Given the description of an element on the screen output the (x, y) to click on. 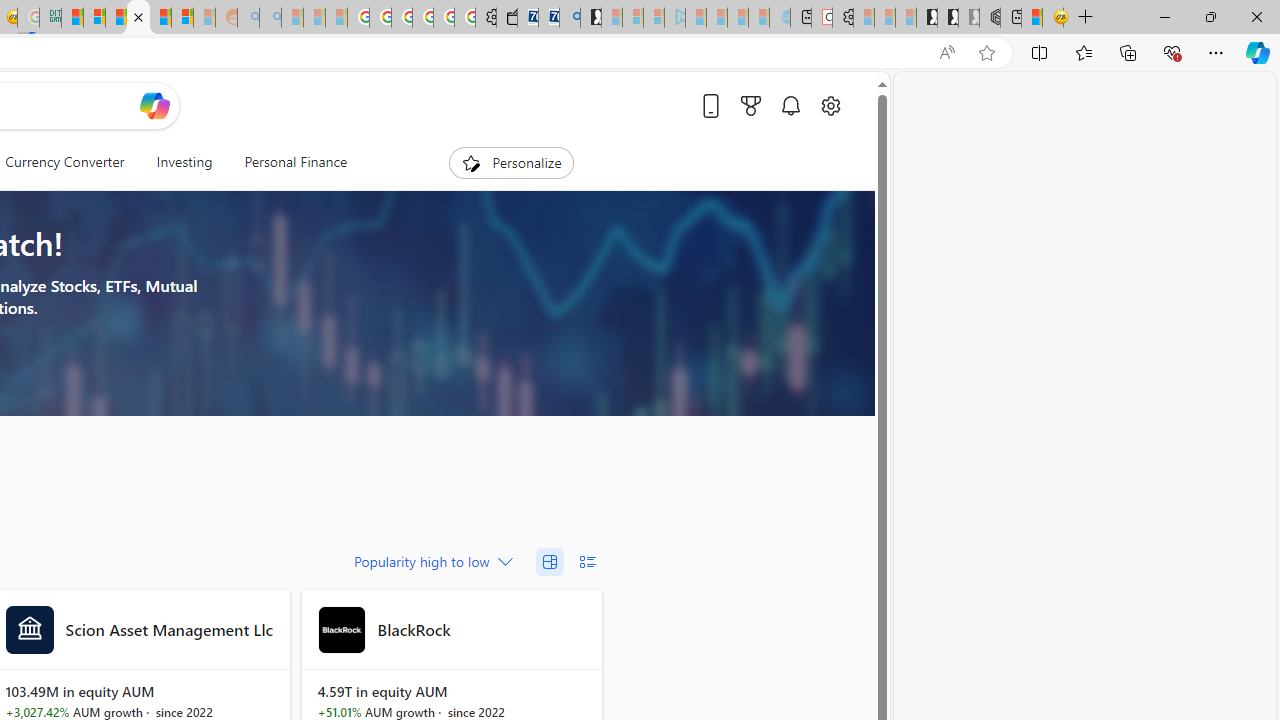
Bing Real Estate - Home sales and rental listings (569, 17)
Wallet (506, 17)
Popularity high to low (431, 561)
Personal Finance (296, 162)
Investing (184, 162)
